Given the description of an element on the screen output the (x, y) to click on. 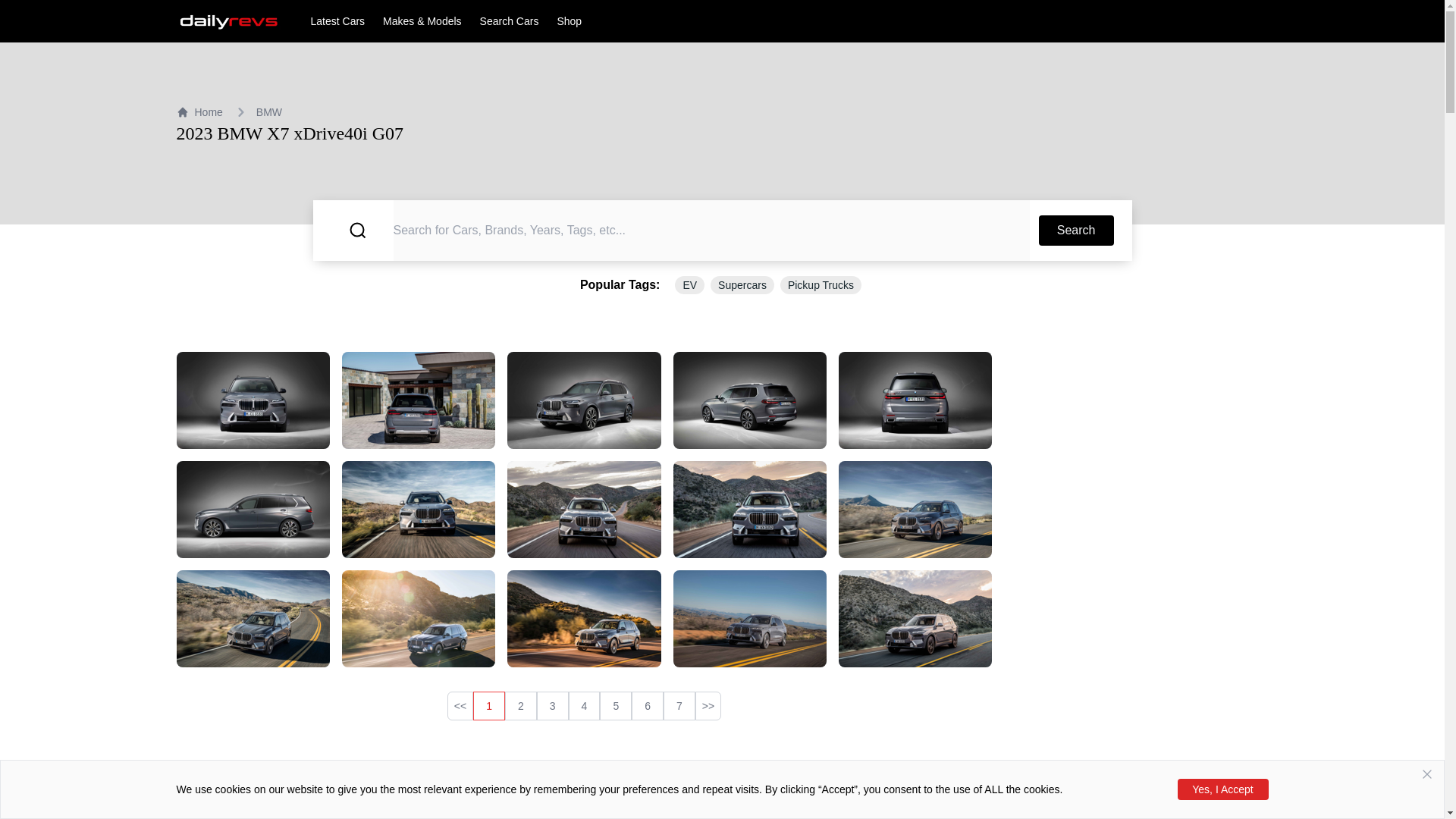
Search Cars (509, 20)
3 (553, 705)
Search (1076, 230)
4 (584, 705)
6 (647, 705)
